Given the description of an element on the screen output the (x, y) to click on. 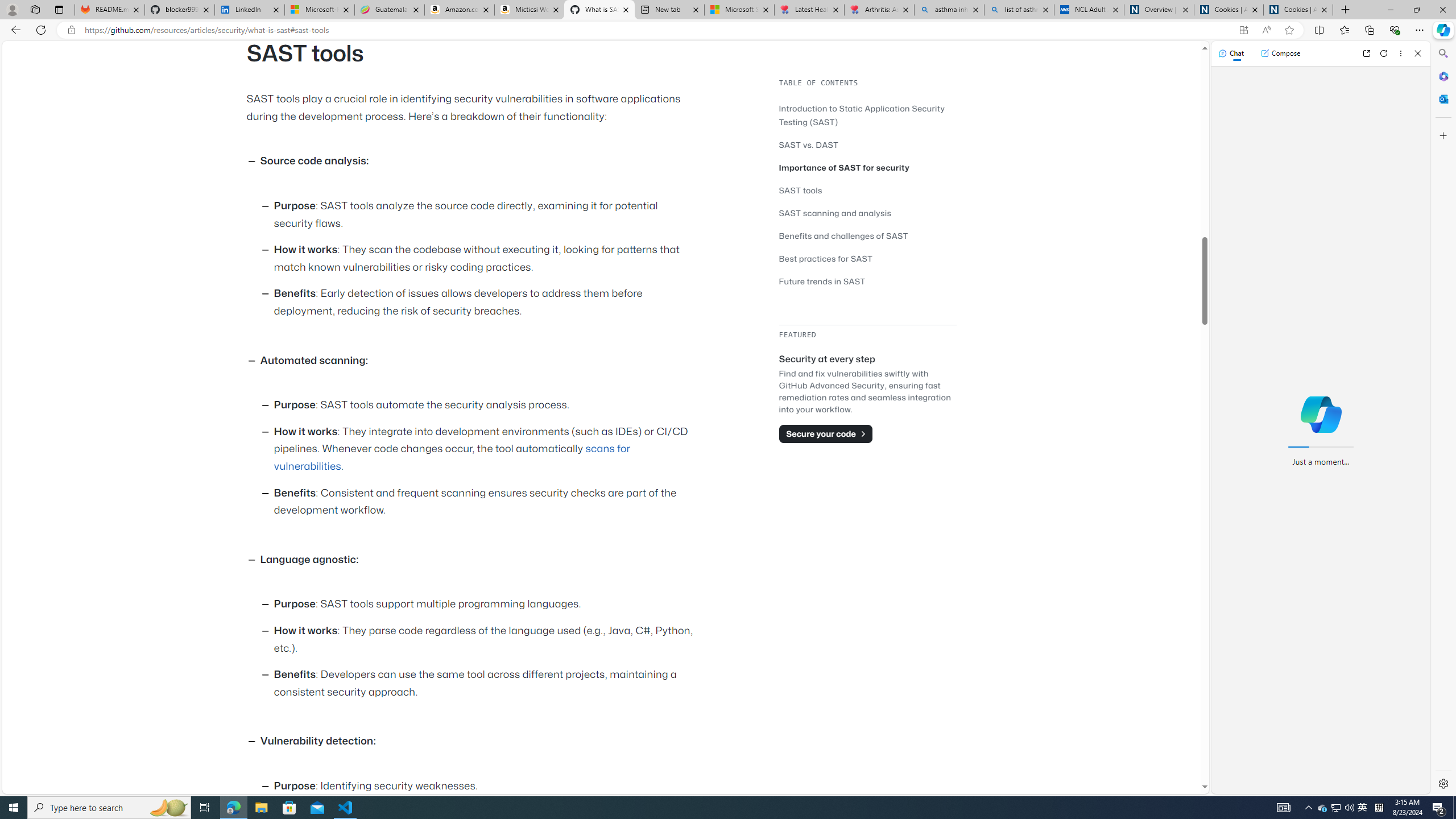
Purpose: SAST tools automate the security analysis process. (485, 405)
Introduction to Static Application Security Testing (SAST) (861, 114)
SAST vs. DAST (867, 144)
Future trends in SAST (822, 280)
Compose (1280, 52)
Outlook (1442, 98)
Chat (1231, 52)
